Given the description of an element on the screen output the (x, y) to click on. 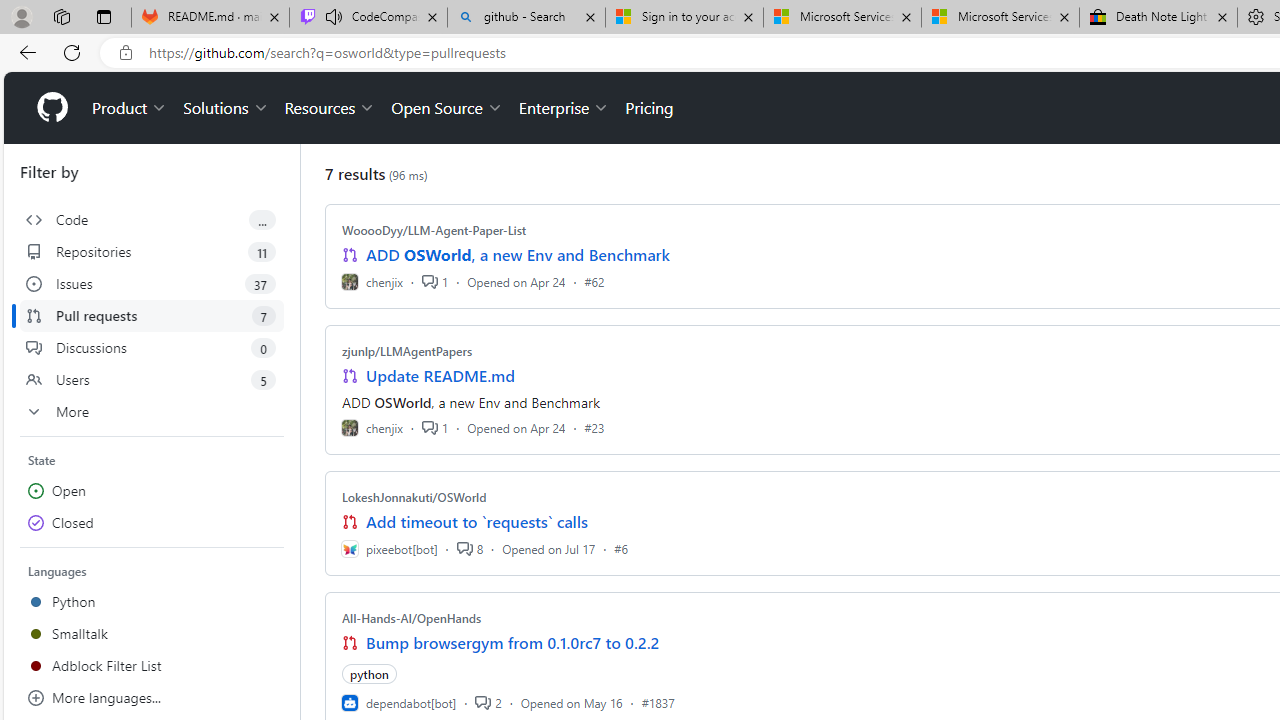
Open Source (446, 107)
#6 (621, 548)
Sign in to your account (683, 17)
Enterprise (563, 107)
chenjix (372, 427)
WooooDyy/LLM-Agent-Paper-List (434, 230)
8 (469, 548)
LokeshJonnakuti/OSWorld (413, 497)
ADD OSWorld, a new Env and Benchmark (517, 255)
